Given the description of an element on the screen output the (x, y) to click on. 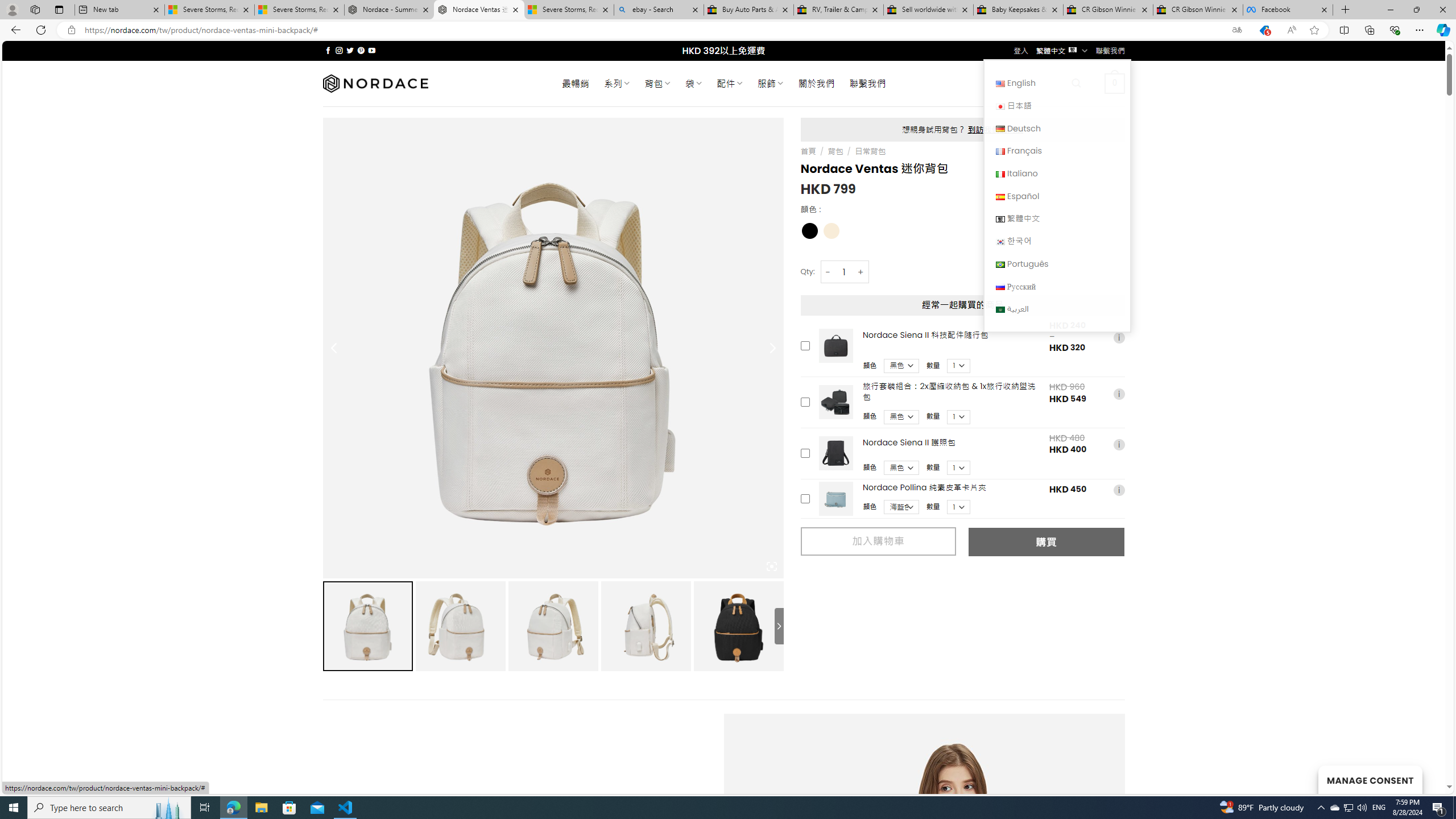
+ (861, 272)
Follow on Facebook (327, 50)
Buy Auto Parts & Accessories | eBay (747, 9)
